Given the description of an element on the screen output the (x, y) to click on. 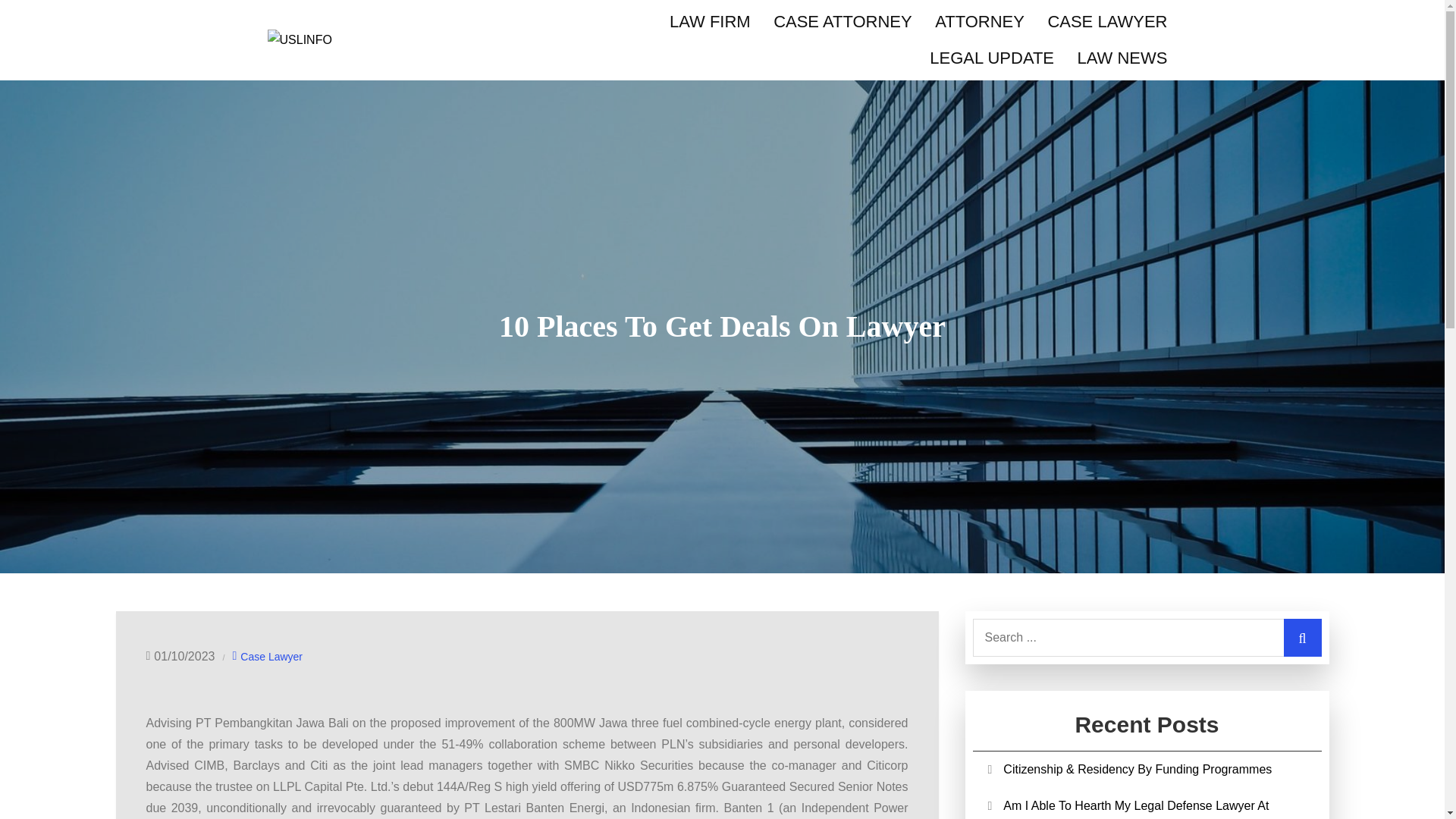
CASE ATTORNEY (841, 22)
Search for: (1146, 637)
Search (1301, 637)
ATTORNEY (978, 22)
LAW NEWS (1122, 58)
CASE LAWYER (1106, 22)
LEGAL UPDATE (992, 58)
Case Lawyer (271, 656)
LAW FIRM (709, 22)
USLINFO (337, 71)
